Given the description of an element on the screen output the (x, y) to click on. 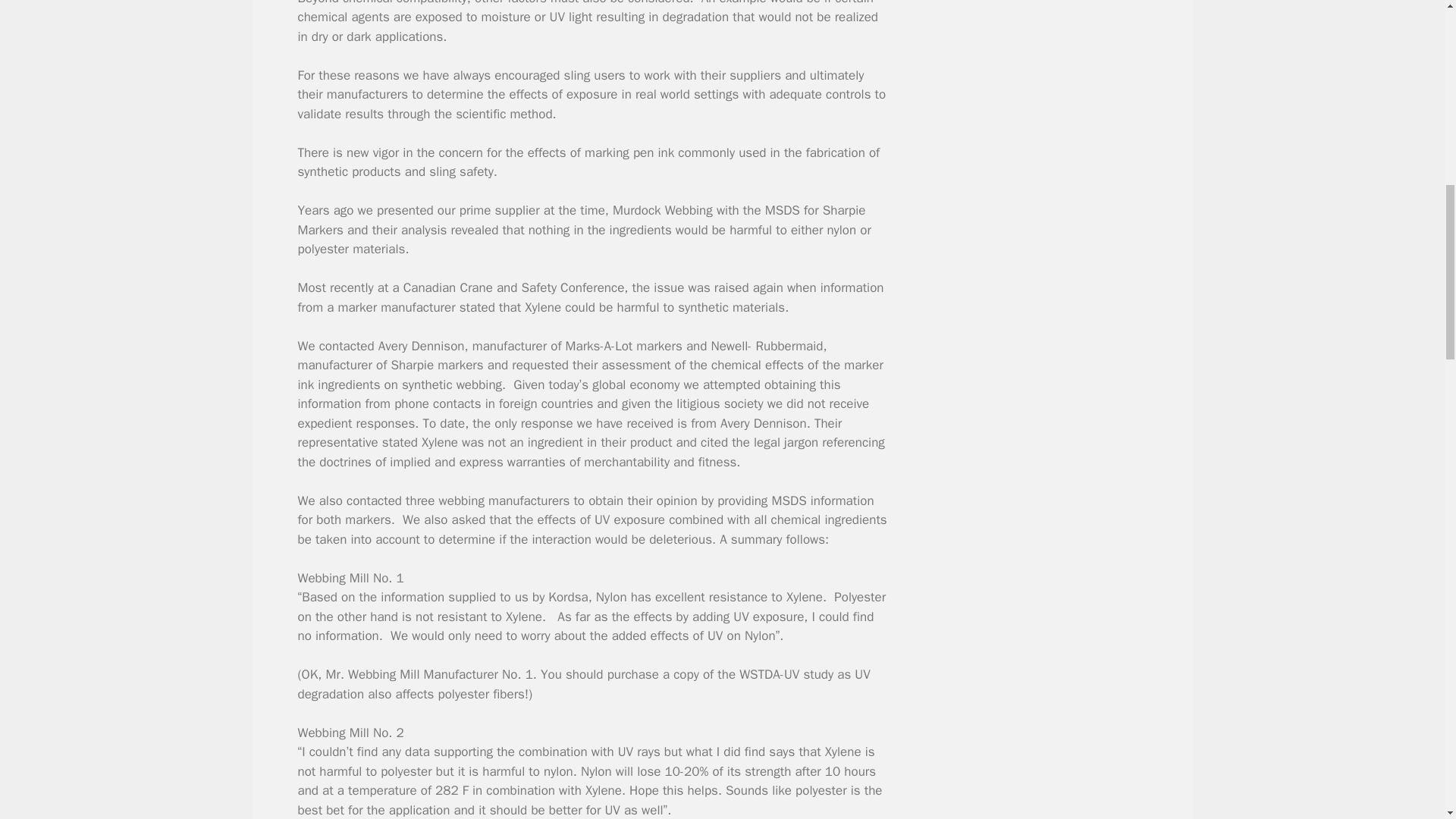
Scroll back to top (1406, 720)
